Given the description of an element on the screen output the (x, y) to click on. 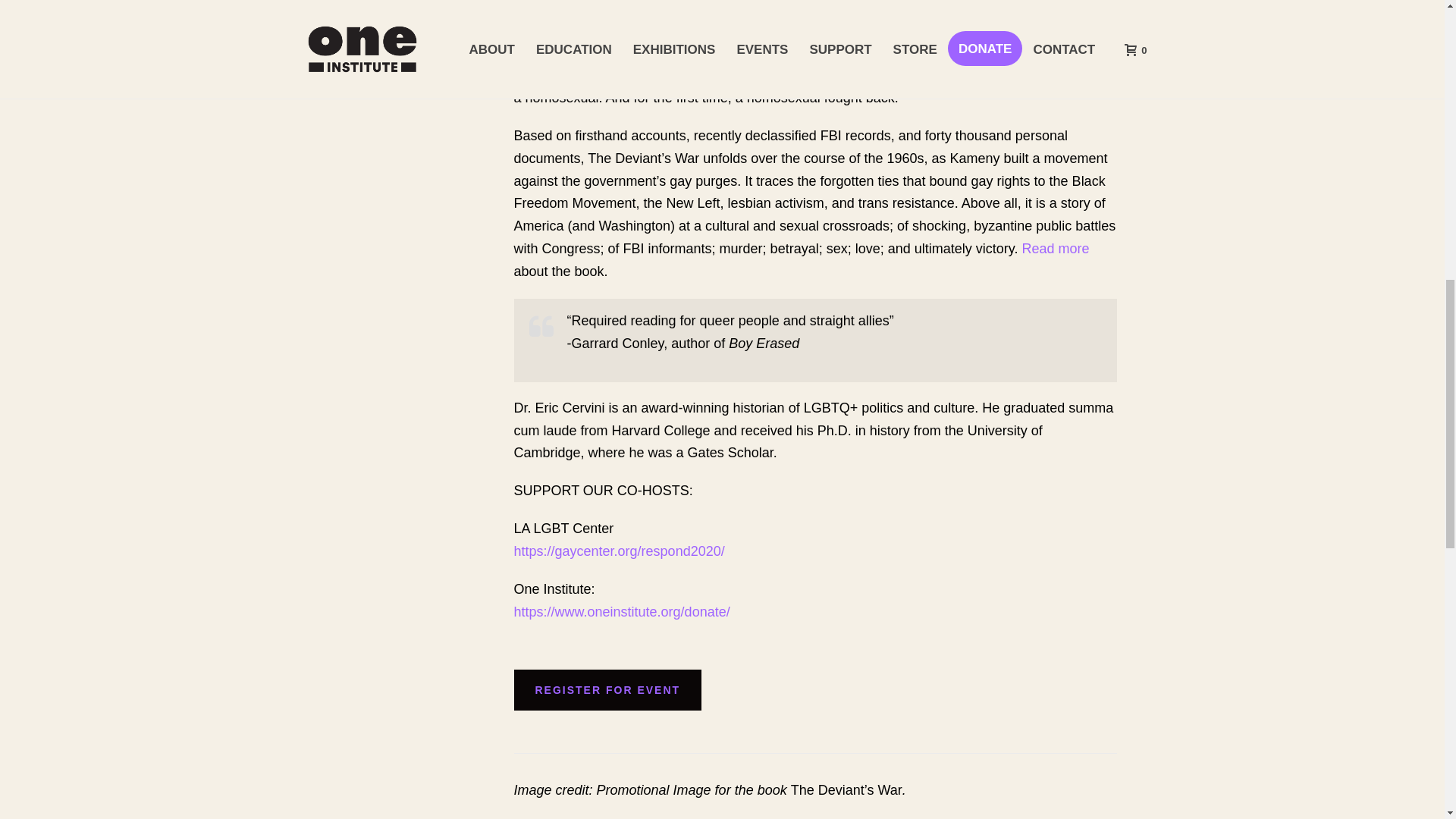
REGISTER FOR EVENT (607, 689)
